Given the description of an element on the screen output the (x, y) to click on. 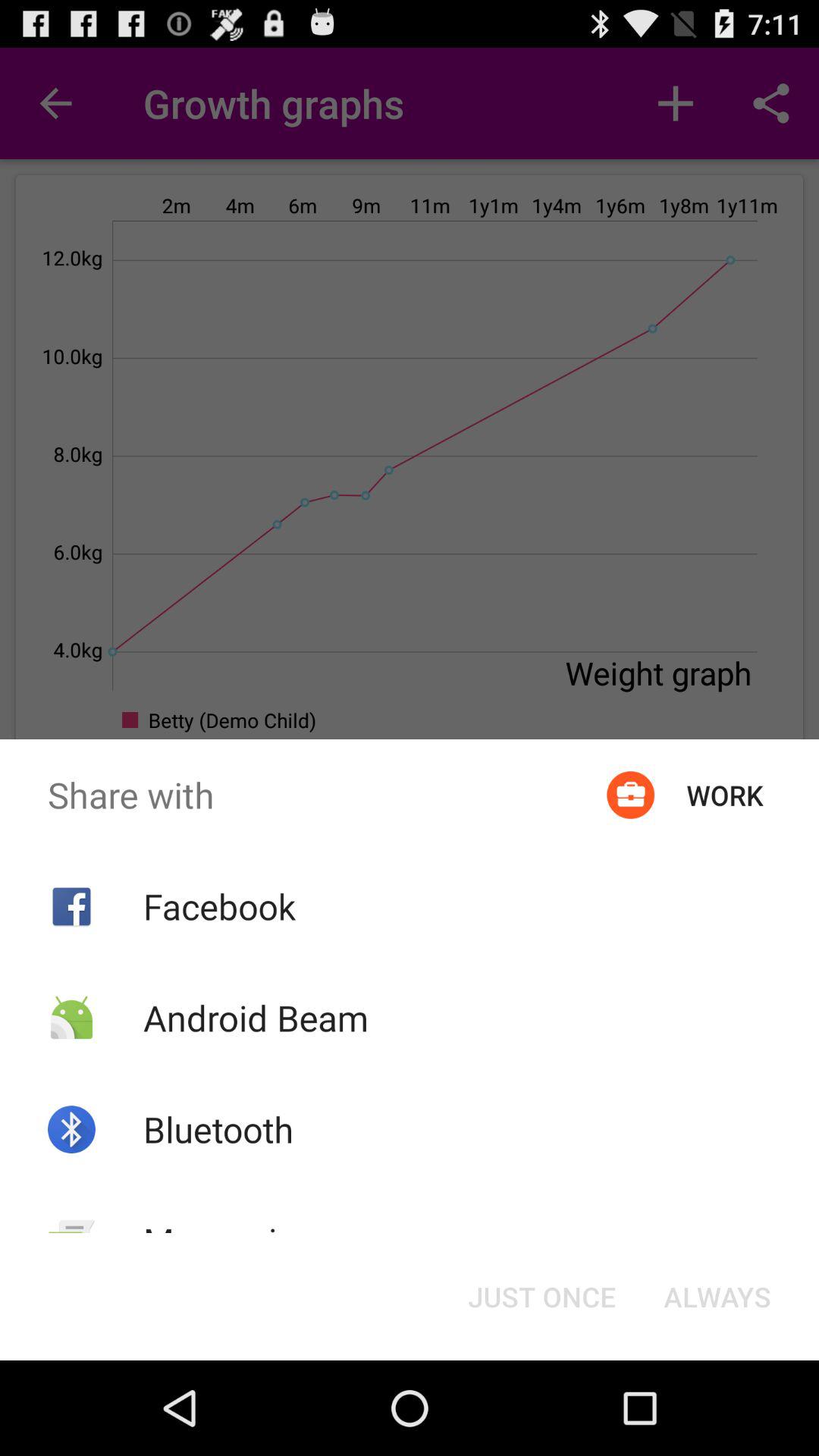
scroll until the bluetooth app (218, 1129)
